Given the description of an element on the screen output the (x, y) to click on. 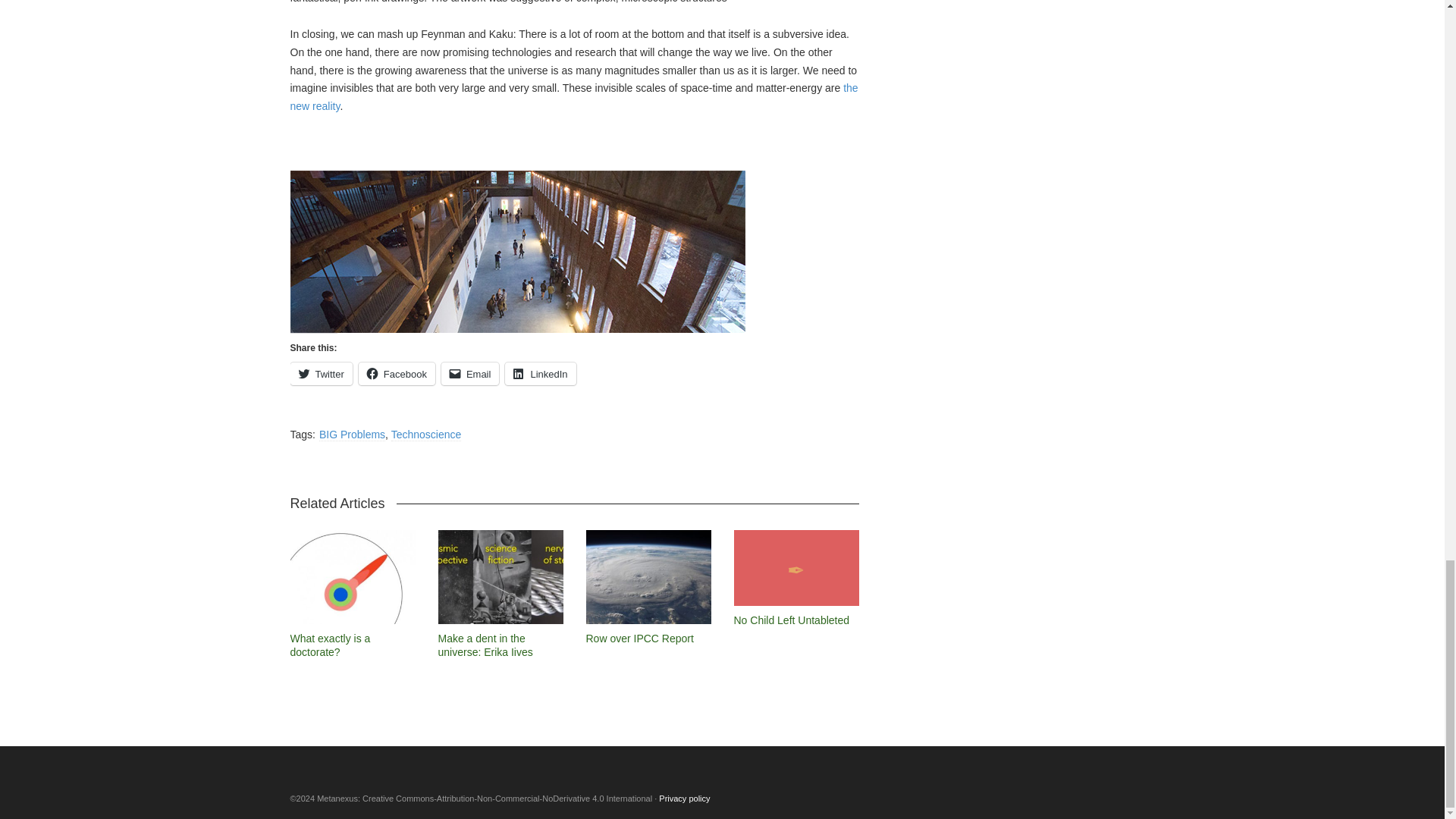
BIG Problems (351, 434)
Permanent Link to Make a dent in the universe: Erika Iives (485, 645)
LinkedIn (540, 373)
Click to share on Facebook (396, 373)
Permanent Link to No Child Left Untableted (791, 620)
Privacy policy and GDPR compliance (684, 798)
Click to email a link to a friend (470, 373)
Email (470, 373)
Twitter (320, 373)
Permanent Link to What exactly is a doctorate? (329, 645)
Click to share on LinkedIn (540, 373)
Permanent Link to Row over IPCC Report (639, 638)
Facebook (396, 373)
the new reality (573, 96)
Click to share on Twitter (320, 373)
